Given the description of an element on the screen output the (x, y) to click on. 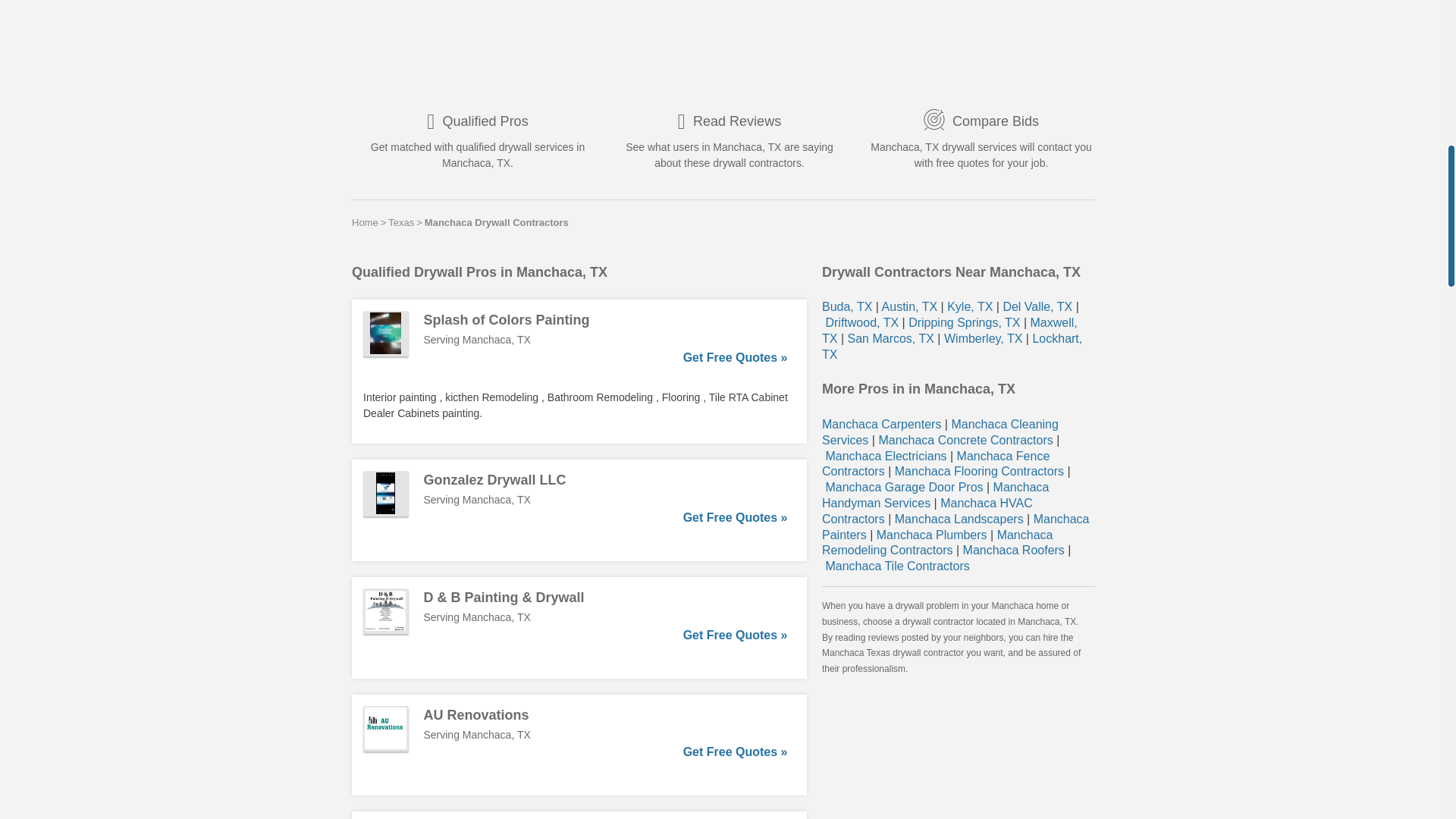
Home (365, 222)
Splash of Colors Painting (605, 320)
Texas (400, 222)
